Given the description of an element on the screen output the (x, y) to click on. 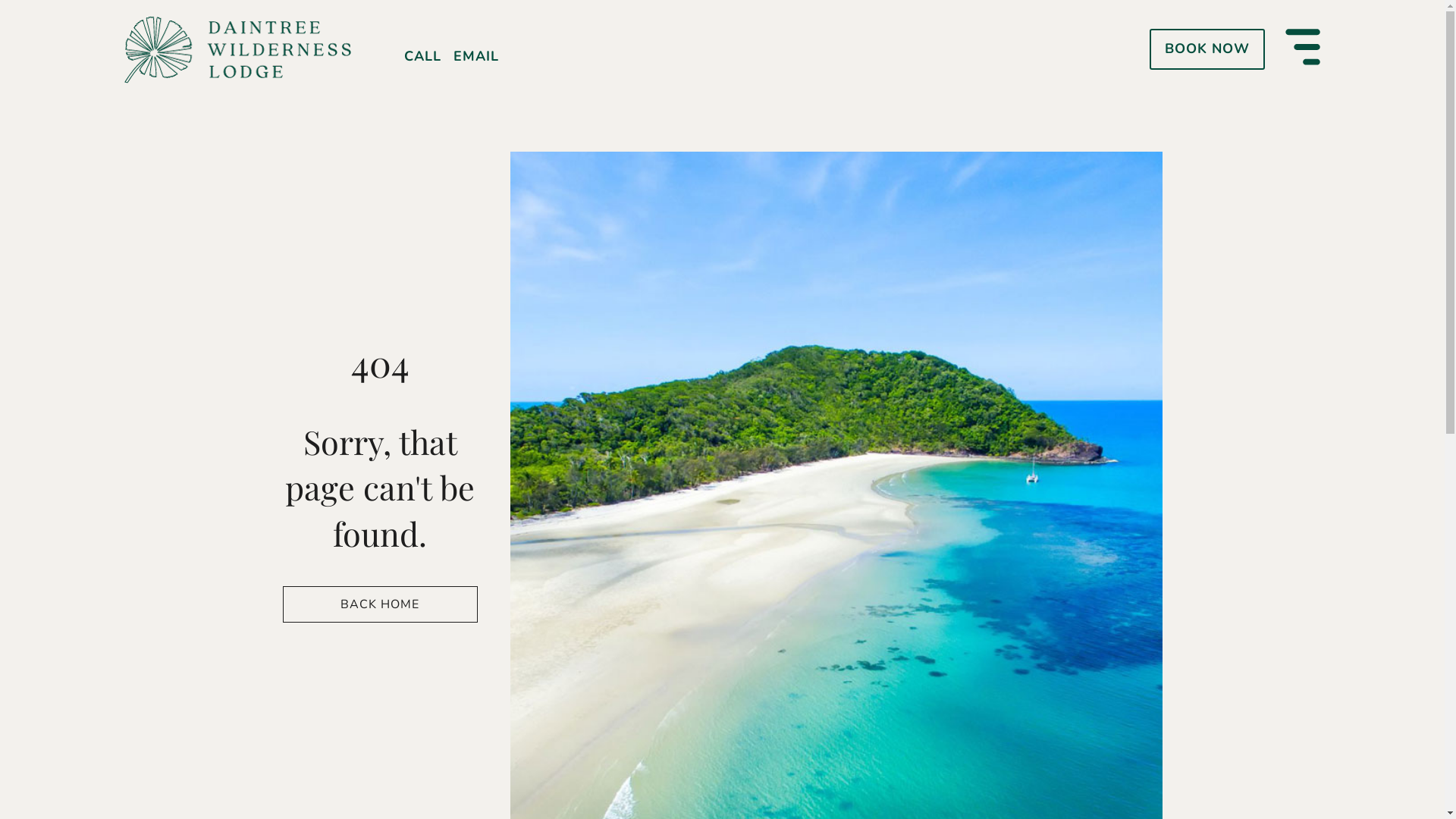
EMAIL Element type: text (475, 56)
CALL Element type: text (421, 56)
BOOK NOW Element type: text (1206, 48)
BACK HOME Element type: text (379, 604)
